Given the description of an element on the screen output the (x, y) to click on. 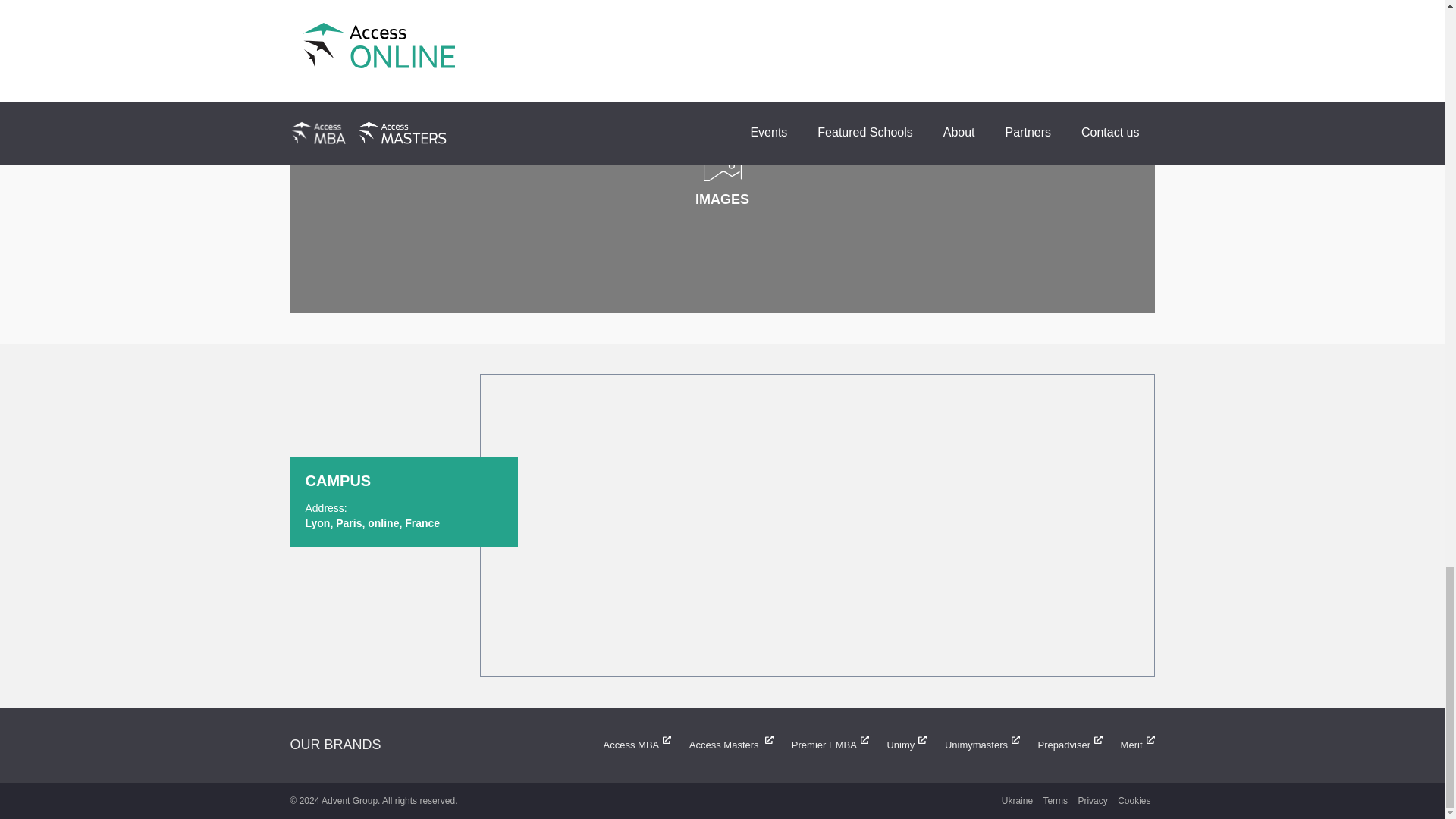
Privacy (1092, 800)
Merit (1129, 745)
Terms (1055, 800)
Premier EMBA (822, 745)
Prepadviser (1062, 745)
Unimy (898, 745)
Ukraine (1016, 800)
Unimymasters (975, 745)
Cookies (1133, 800)
Access Masters (723, 745)
Access MBA (629, 745)
